Given the description of an element on the screen output the (x, y) to click on. 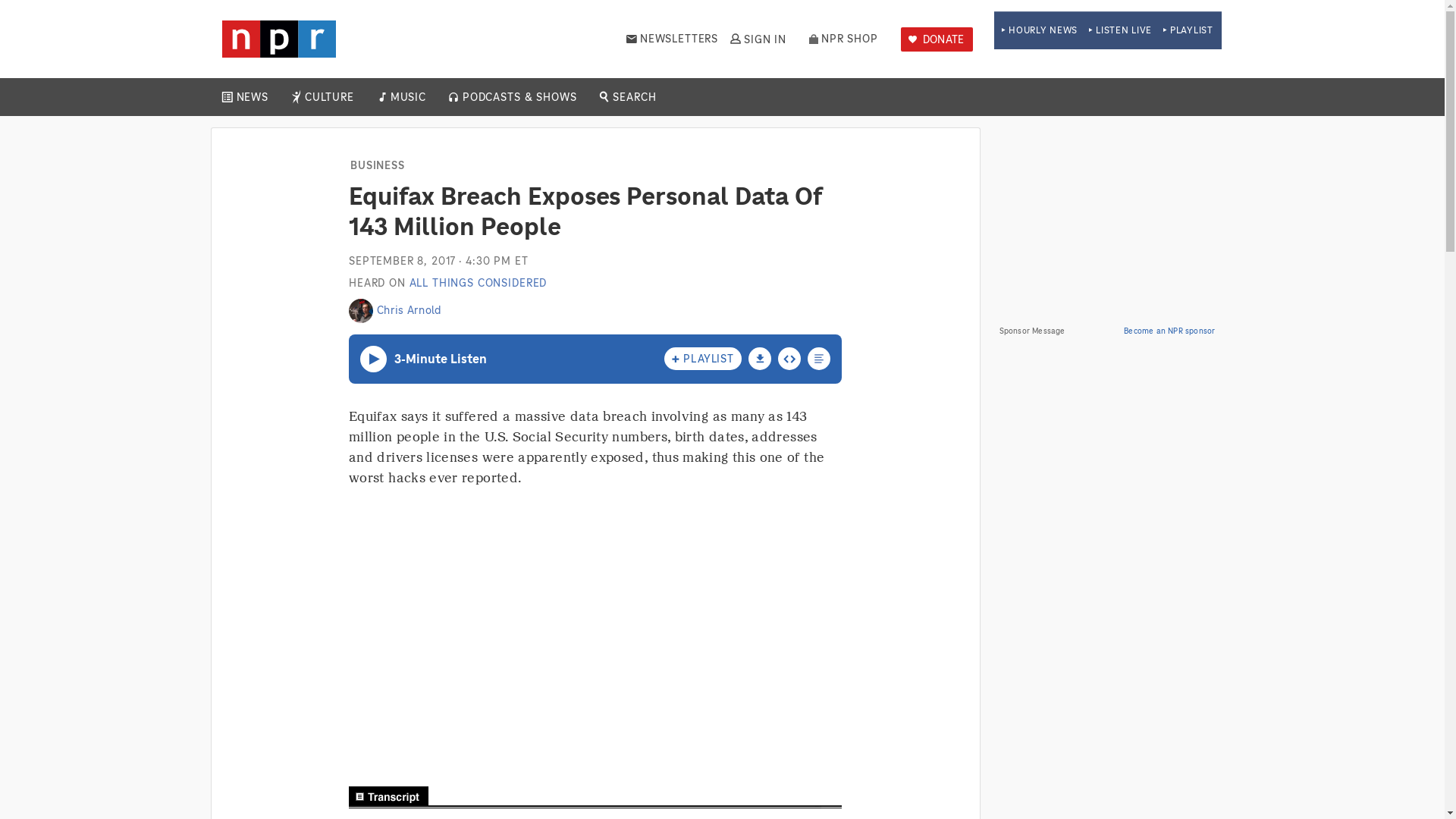
HOURLY NEWS (1039, 30)
DONATE (936, 39)
MUSIC (407, 96)
NPR SHOP (843, 38)
NEWS (251, 96)
CULTURE (328, 96)
SIGN IN (757, 38)
PLAYLIST (1187, 30)
LISTEN LIVE (1120, 30)
NEWSLETTERS (671, 38)
